Given the description of an element on the screen output the (x, y) to click on. 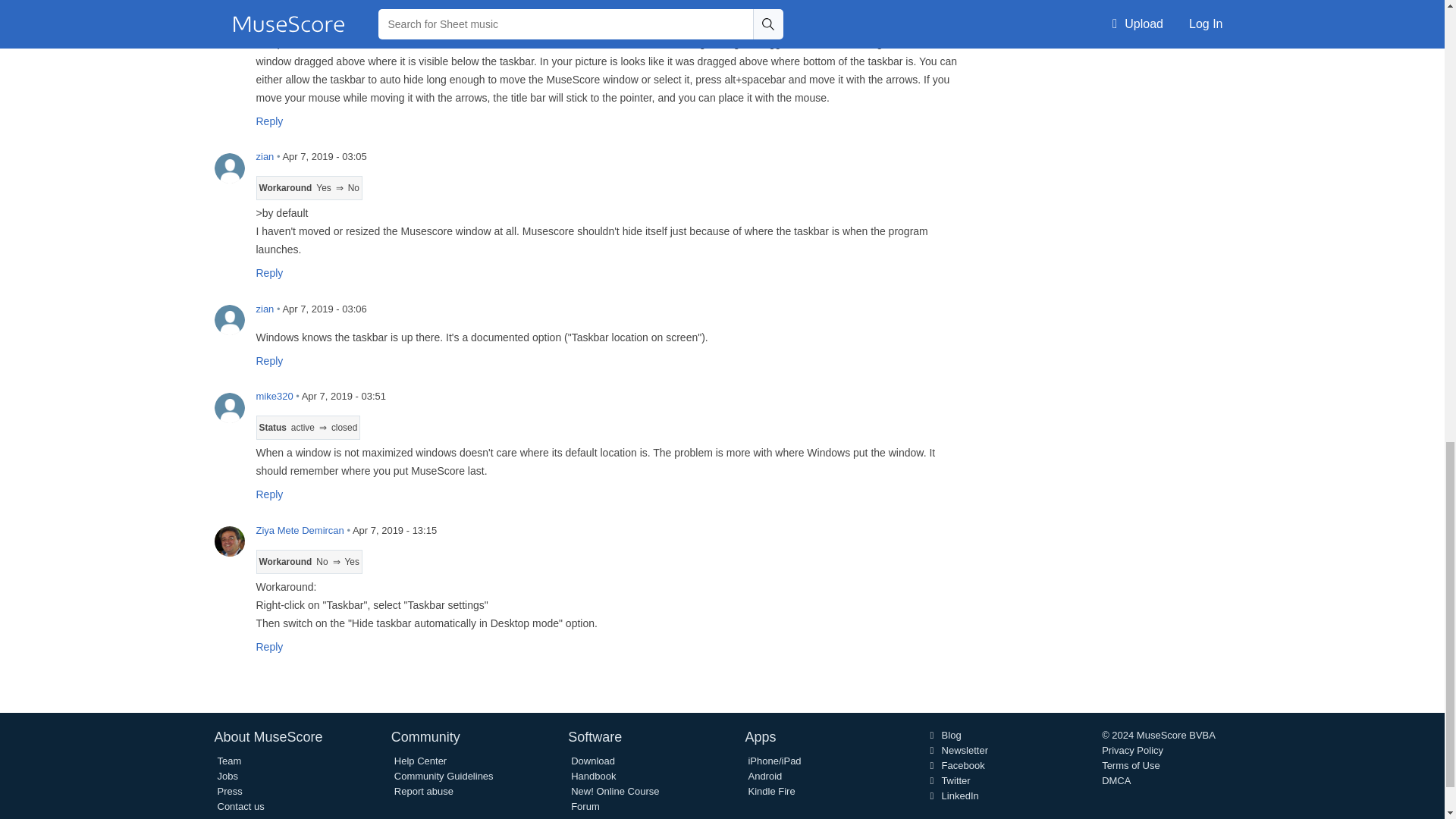
zian (229, 319)
mike320 (229, 25)
zian (229, 167)
mike320 (229, 407)
Ziya Mete Demircan (229, 541)
